Given the description of an element on the screen output the (x, y) to click on. 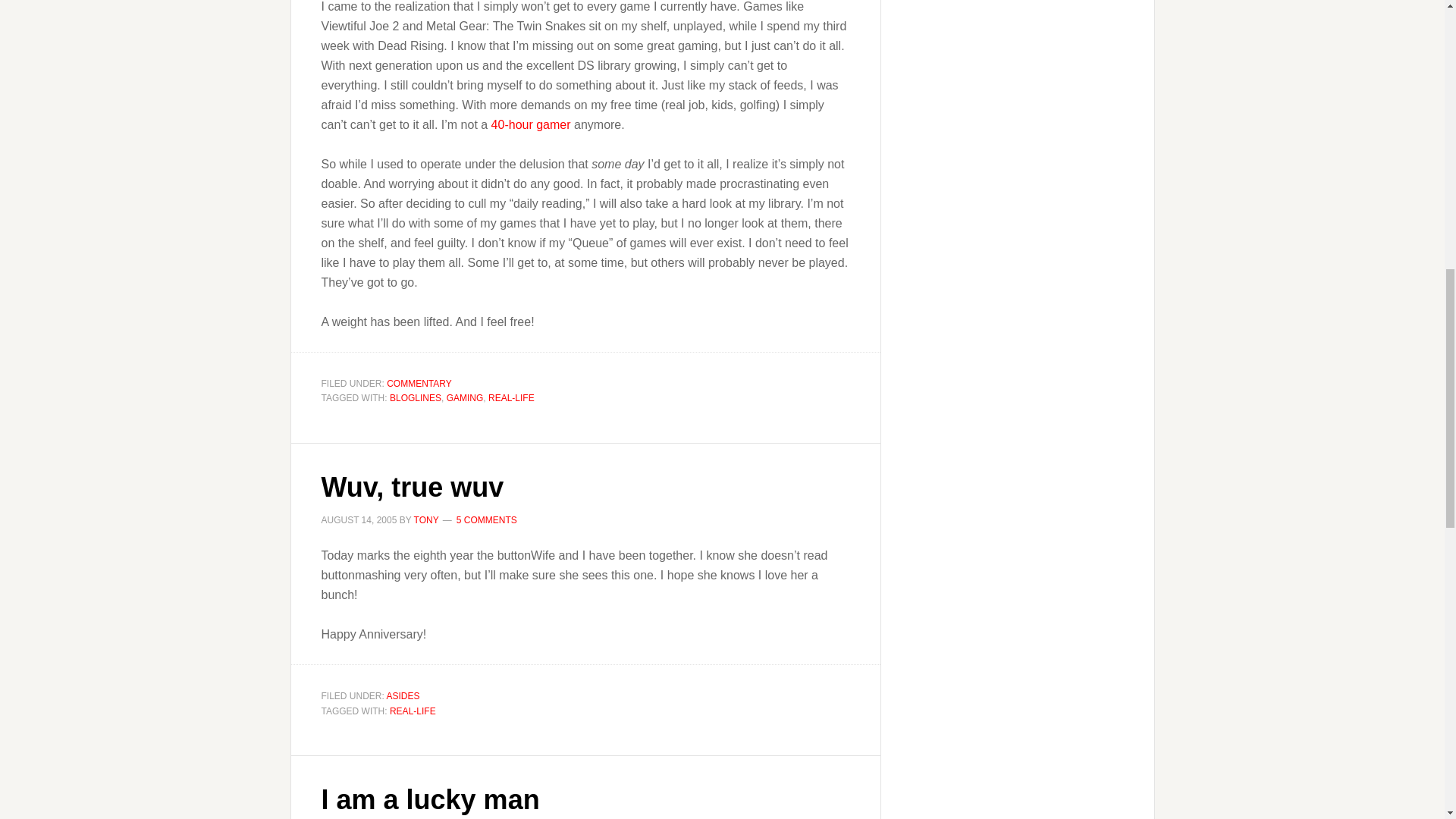
TONY (426, 519)
I am a lucky man (430, 798)
5 COMMENTS (486, 519)
BLOGLINES (415, 398)
Wuv, true wuv (412, 486)
GAMING (464, 398)
REAL-LIFE (510, 398)
COMMENTARY (419, 382)
40-hour gamer (531, 124)
REAL-LIFE (412, 710)
ASIDES (403, 696)
